Given the description of an element on the screen output the (x, y) to click on. 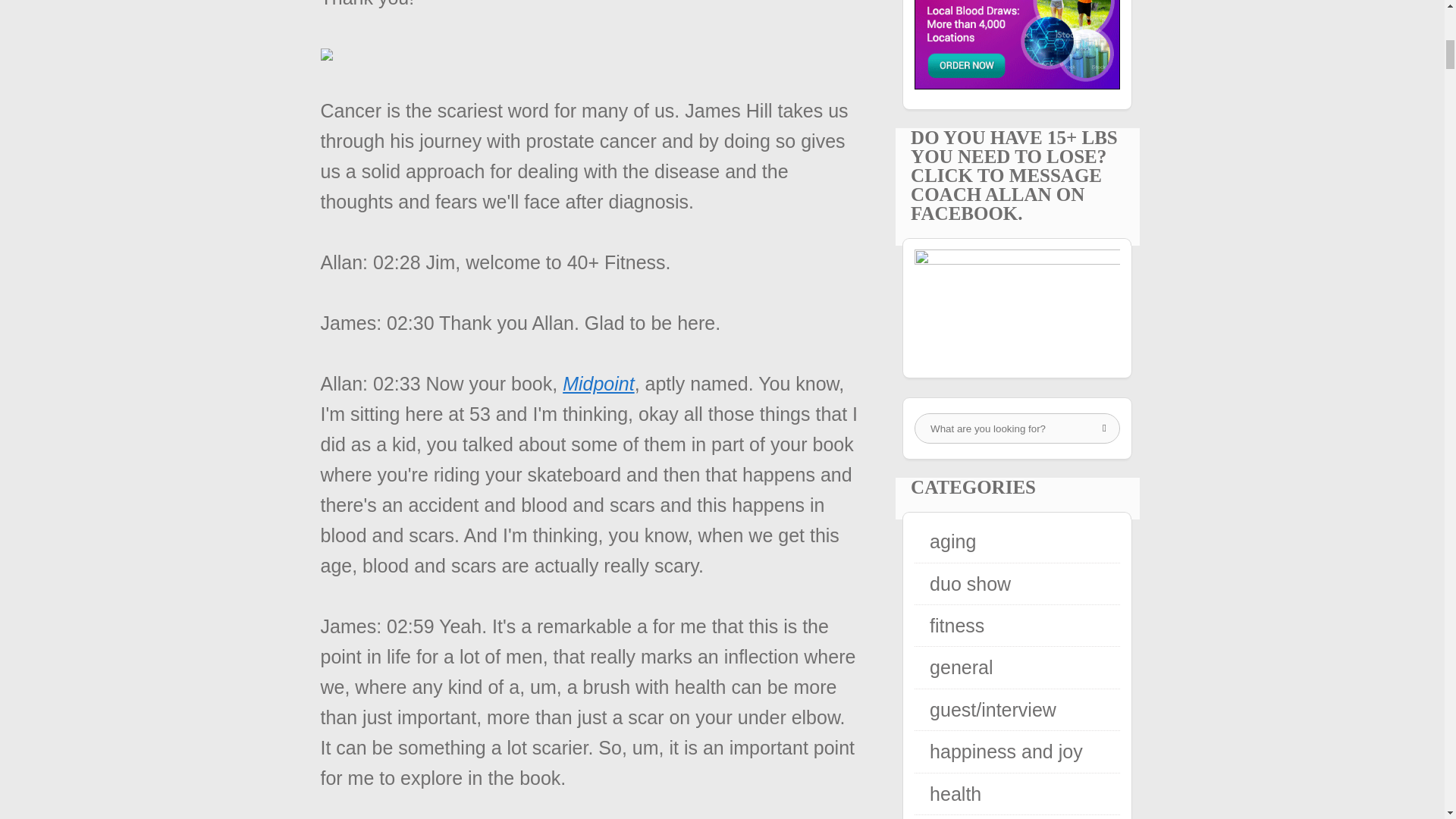
fitness (957, 625)
health (955, 792)
duo show (970, 583)
aging (952, 541)
happiness and joy (1006, 751)
Midpoint (598, 383)
general (961, 667)
